Given the description of an element on the screen output the (x, y) to click on. 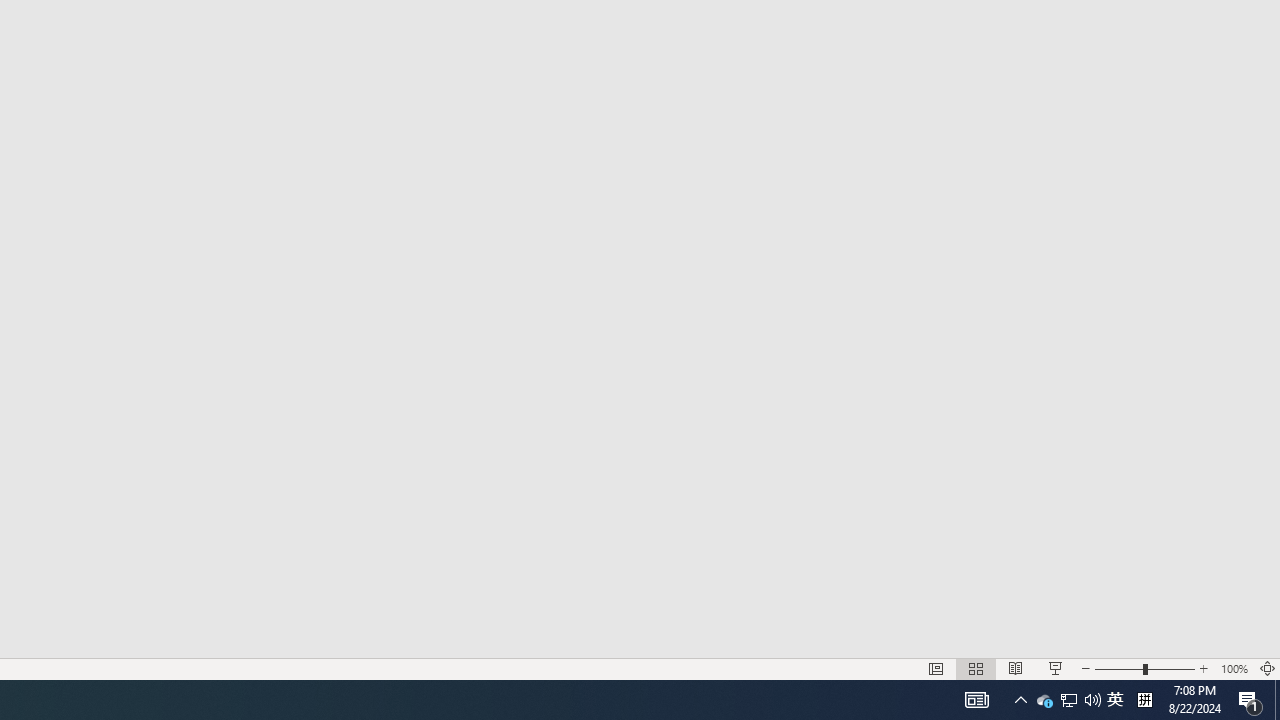
Zoom 100% (1234, 668)
